Given the description of an element on the screen output the (x, y) to click on. 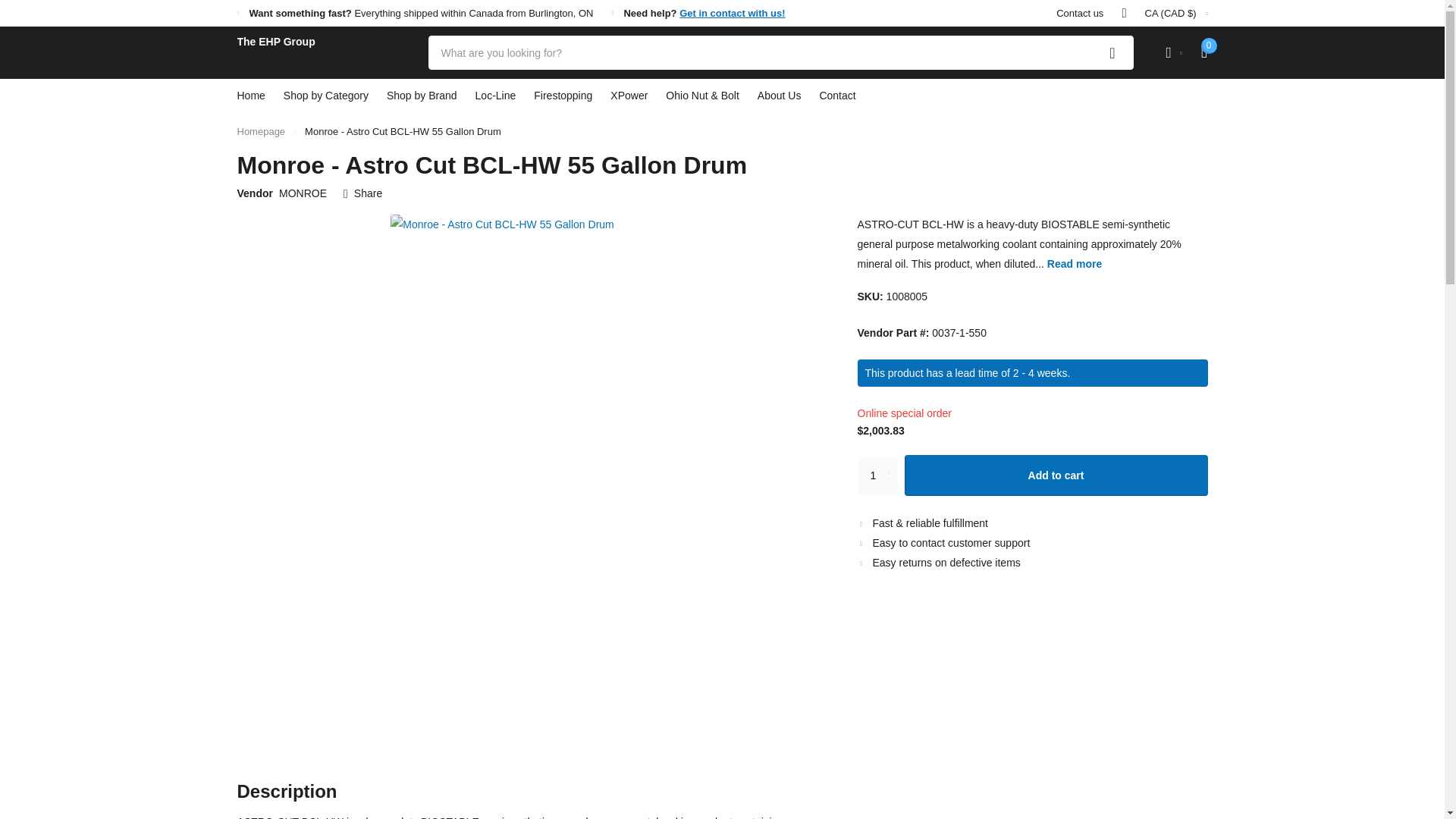
Home (260, 131)
Get in contact with us! (731, 12)
Contact us (1080, 13)
Contact Us (731, 12)
1 (877, 475)
